Given the description of an element on the screen output the (x, y) to click on. 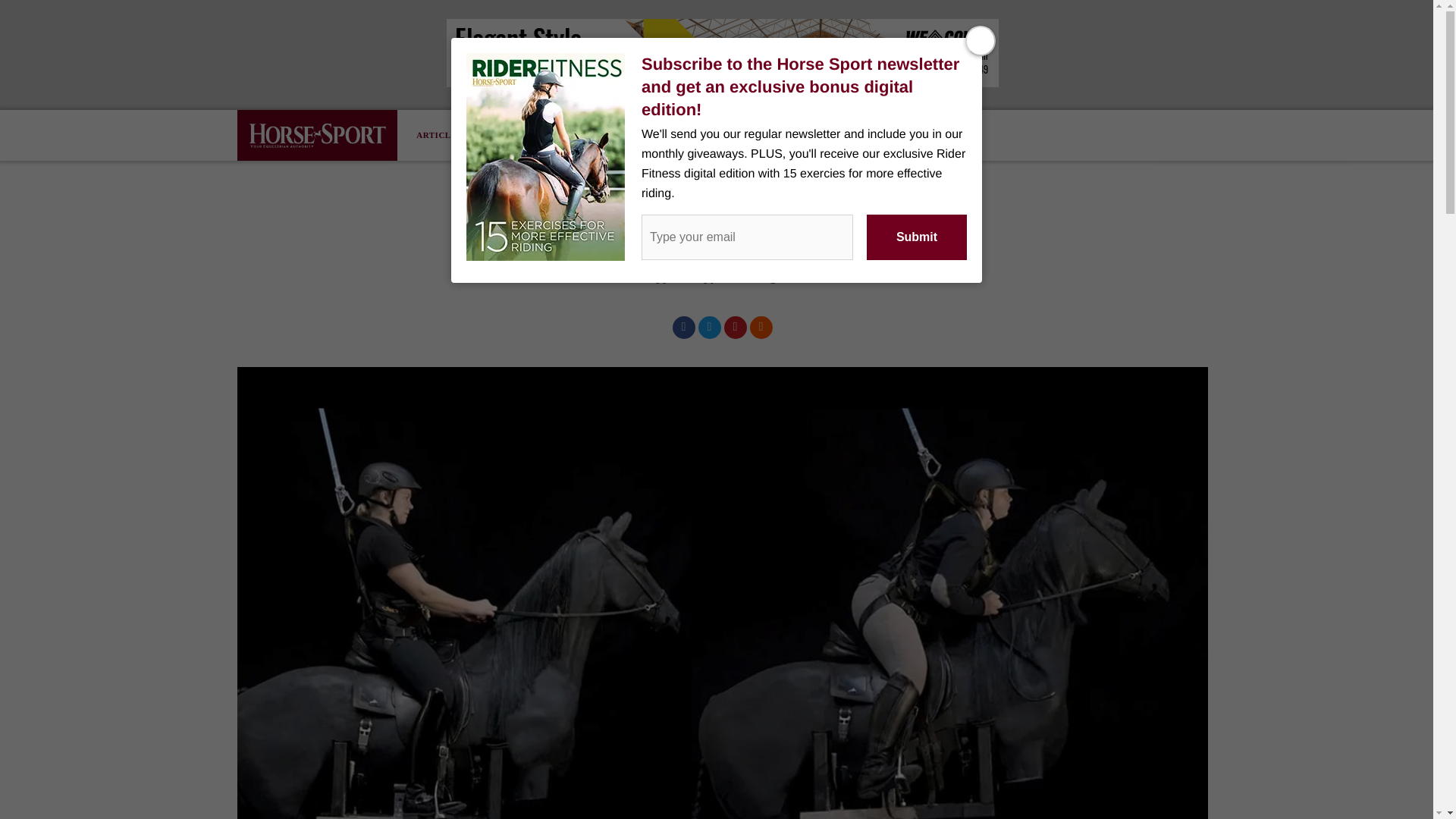
SHOP (594, 134)
STABLES (649, 134)
NEWSLETTER (527, 134)
ARTICLES (450, 134)
